Given the description of an element on the screen output the (x, y) to click on. 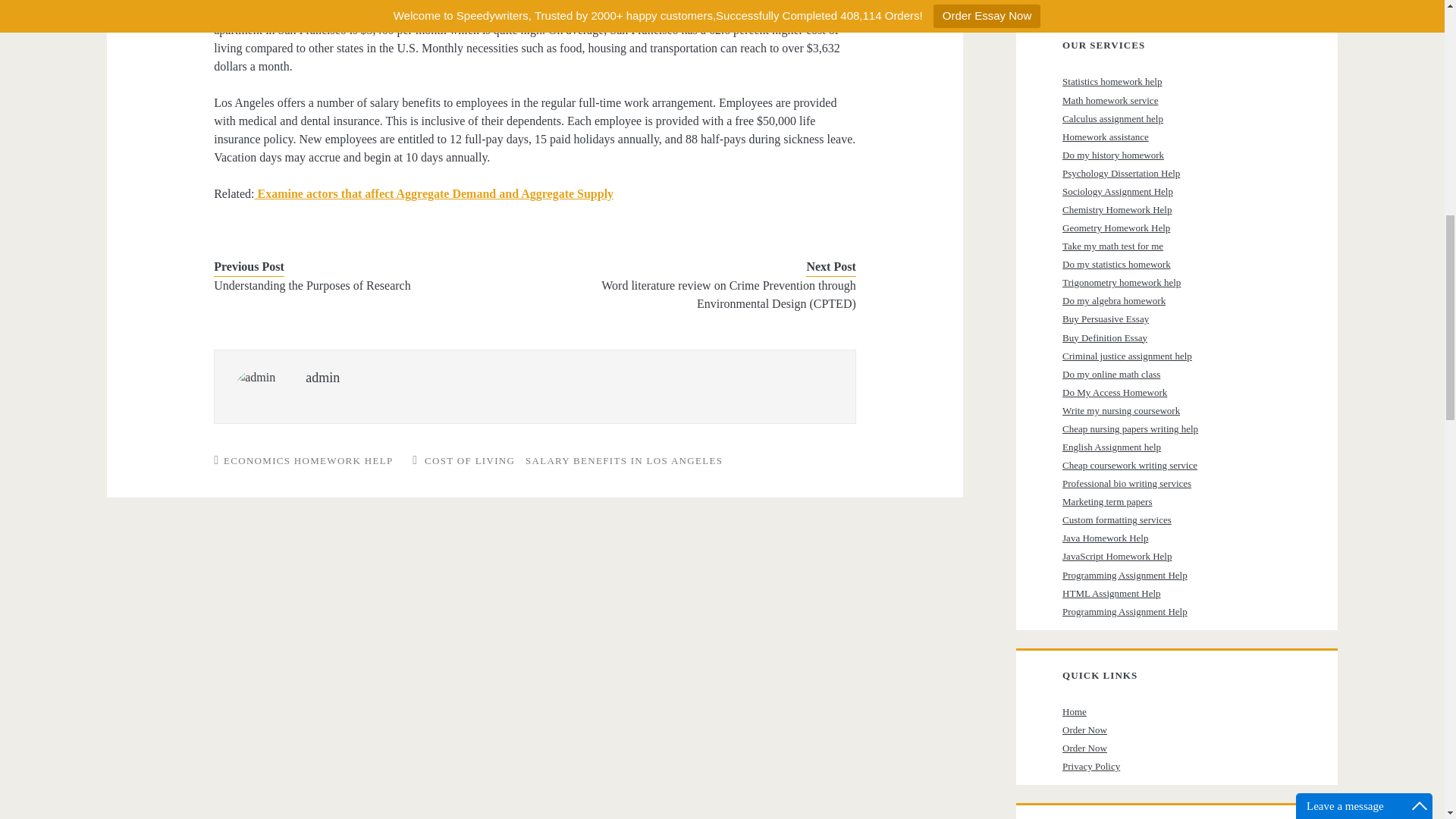
View all posts tagged Salary Benefits in Los Angeles (623, 460)
Homework assistance (1105, 136)
Sociology Assignment Help (1117, 191)
Psychology Dissertation Help (1120, 173)
Buy Persuasive Essay (1105, 318)
View all posts tagged Cost of Living (470, 460)
Take my math test for me (1112, 245)
View all posts in Economics homework help (308, 460)
Trigonometry homework help (1121, 282)
SALARY BENEFITS IN LOS ANGELES (623, 460)
Geometry Homework Help (1116, 227)
Do my algebra homework (1114, 300)
Do my history homework (1112, 154)
Understanding the Purposes of Research (361, 285)
